Given the description of an element on the screen output the (x, y) to click on. 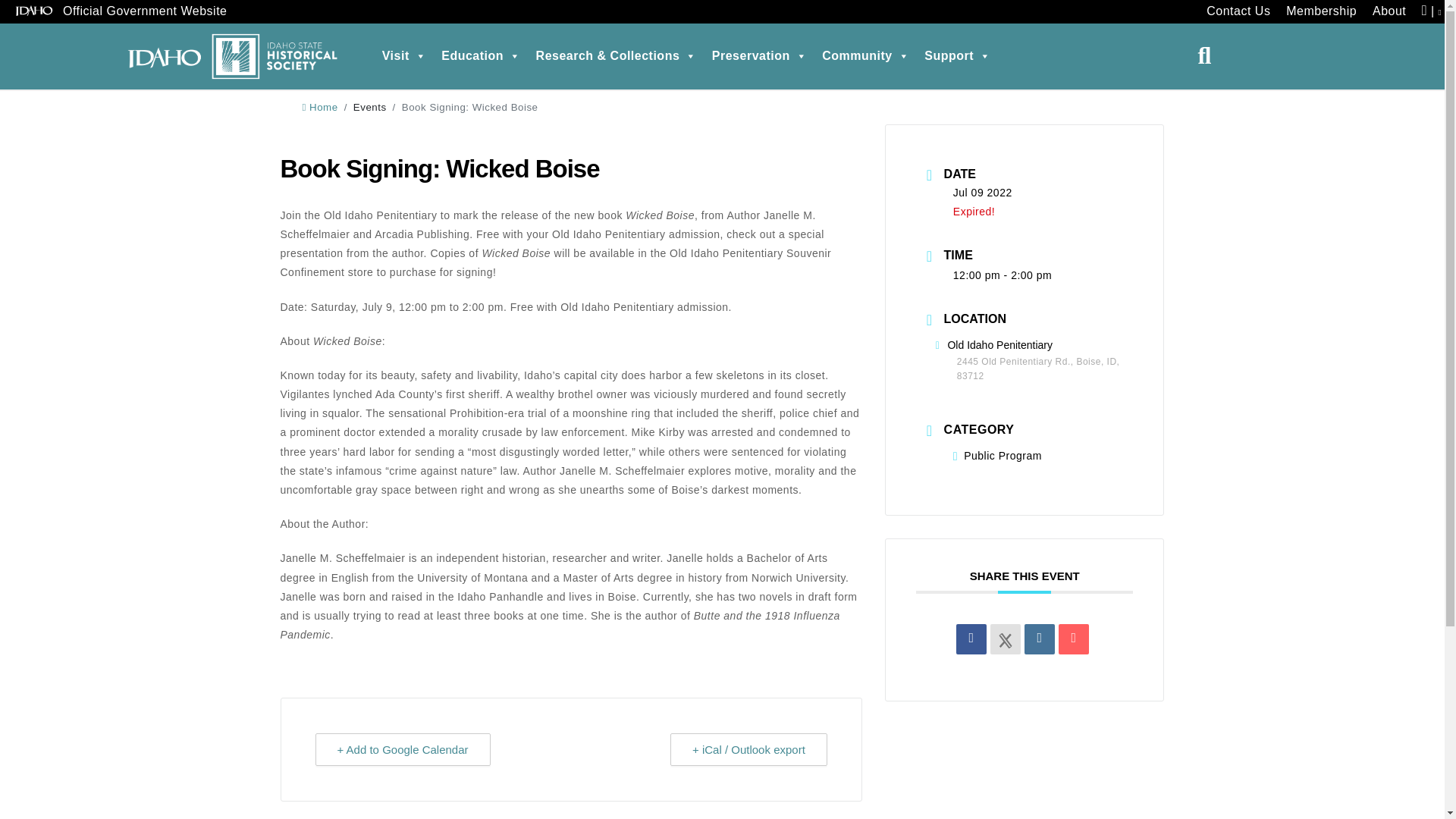
Contact Us (1238, 12)
About (1389, 12)
Visit (403, 55)
Linkedin (1039, 639)
Email (1073, 639)
home (319, 107)
Education (480, 55)
Preservation (758, 55)
Share on Facebook (971, 639)
Membership (1321, 12)
